Given the description of an element on the screen output the (x, y) to click on. 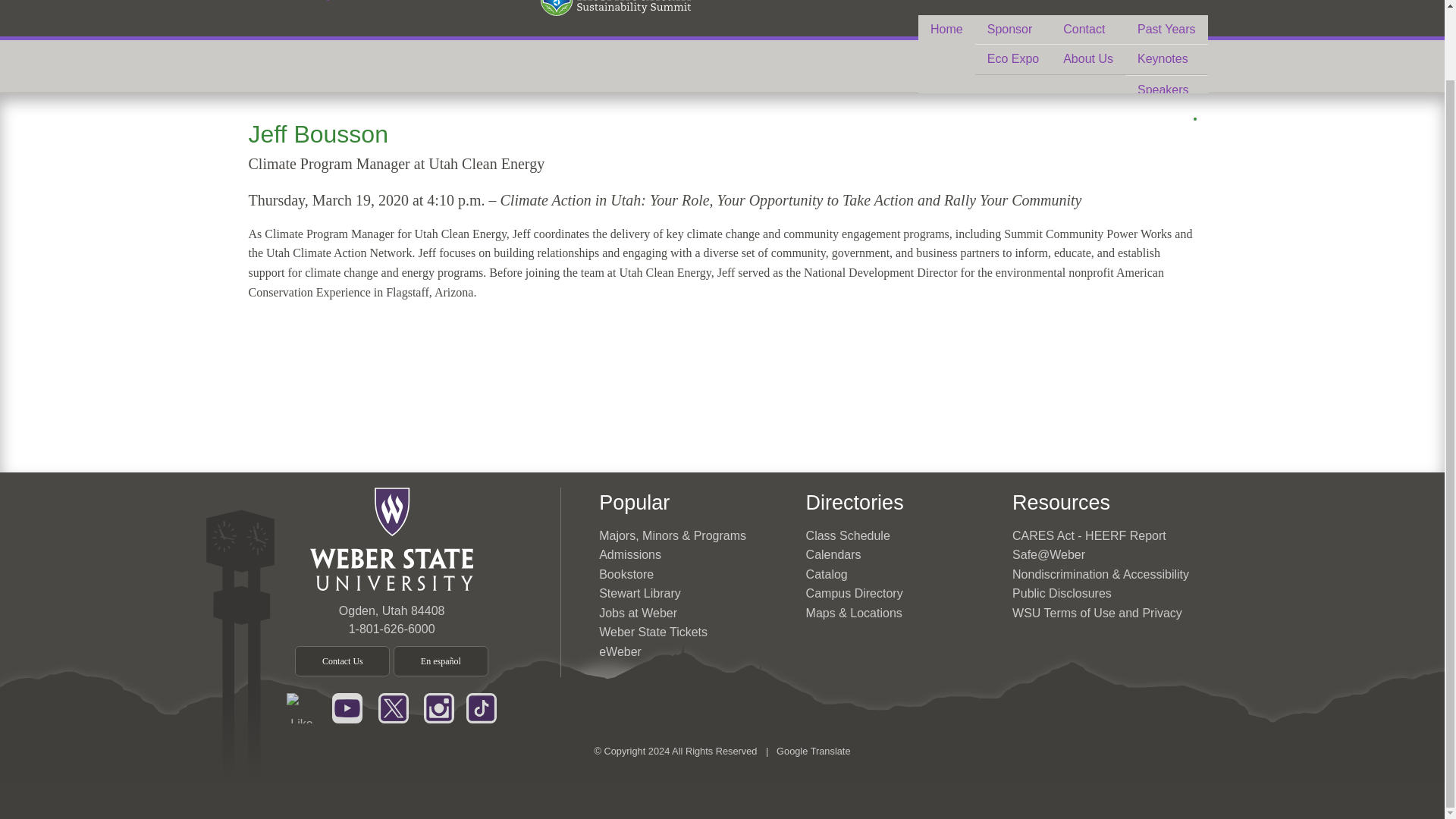
Subscribe to our YouTube Channel (346, 707)
Like us on Facebook (301, 707)
Follow us on Instagram (438, 707)
Follow us on X (393, 707)
Follow us on TikTok (480, 707)
